Given the description of an element on the screen output the (x, y) to click on. 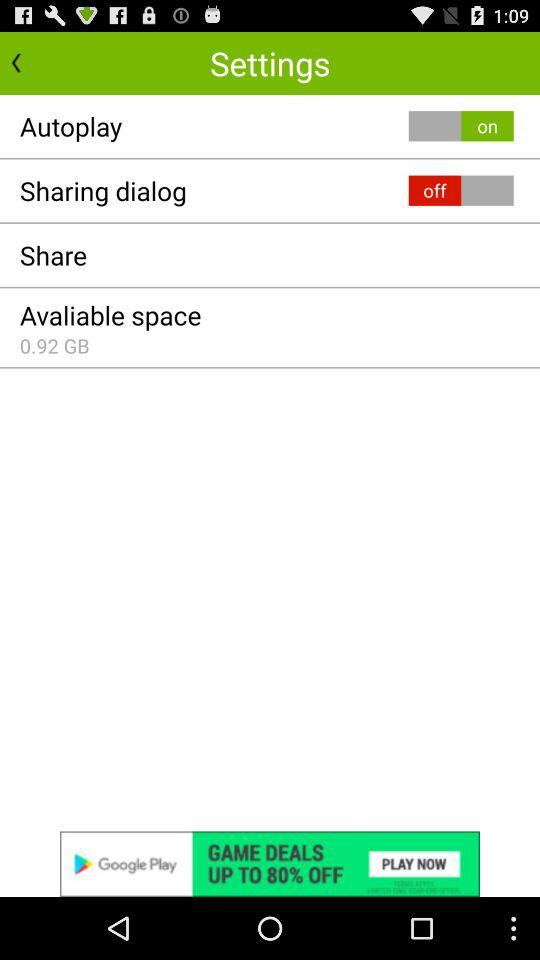
advertisements image (270, 864)
